Given the description of an element on the screen output the (x, y) to click on. 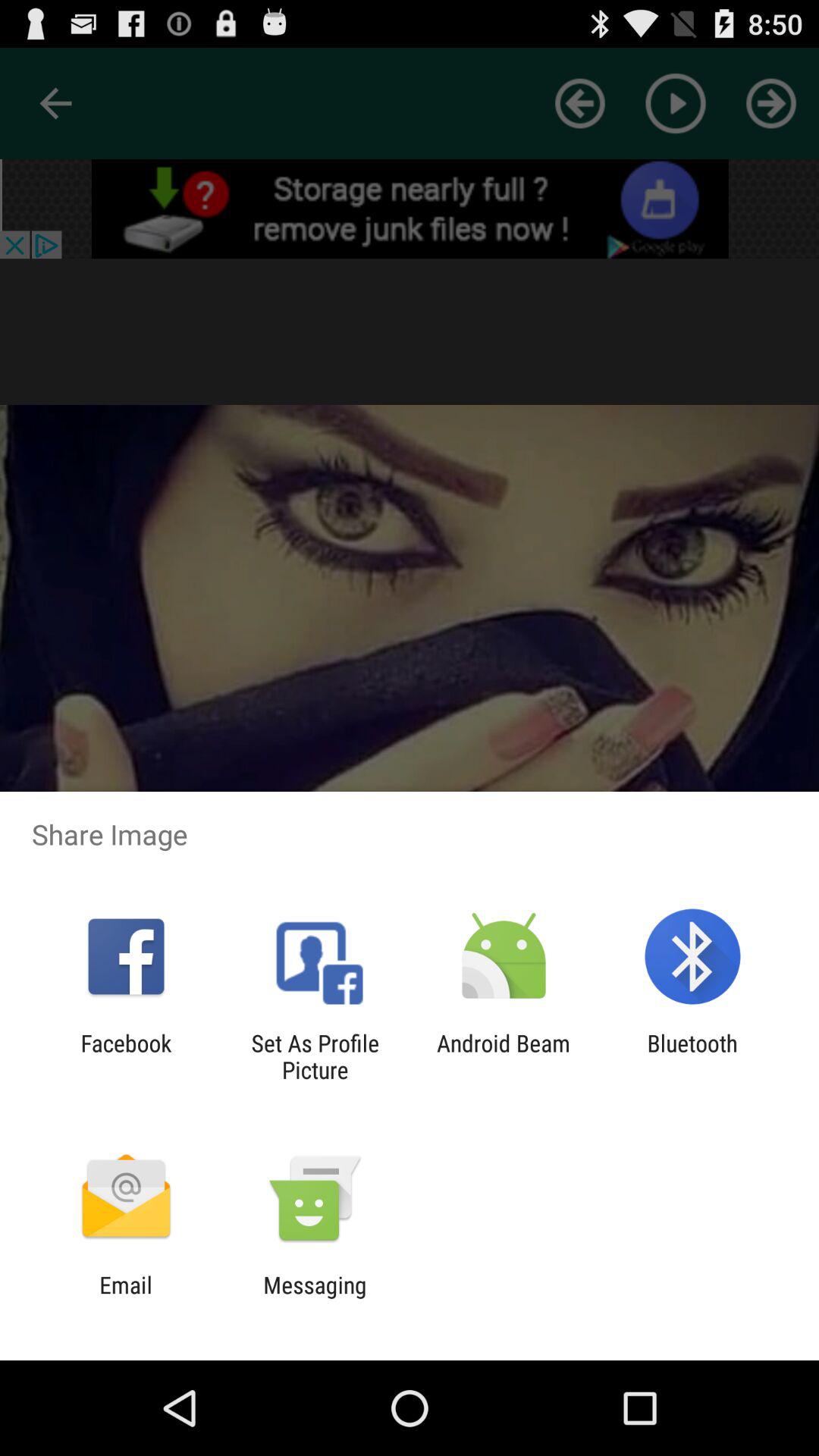
scroll until android beam item (503, 1056)
